Given the description of an element on the screen output the (x, y) to click on. 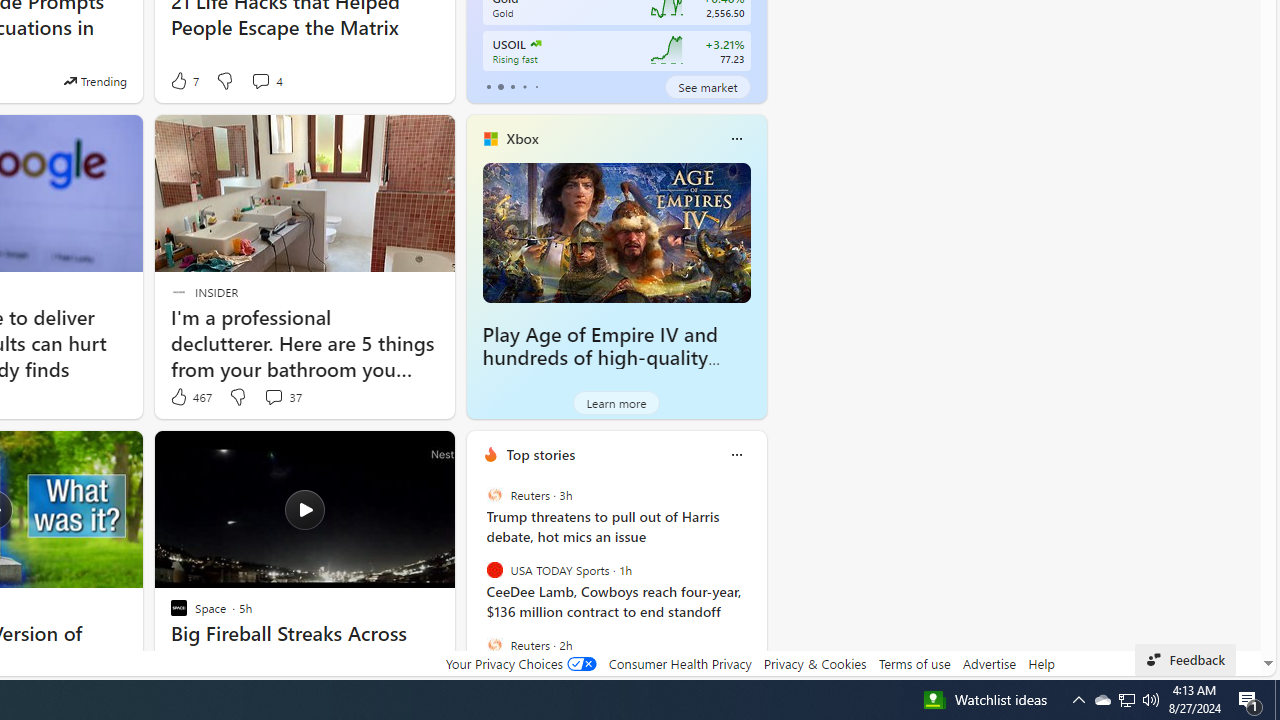
tab-1 (500, 86)
Reuters (494, 644)
This story is trending (95, 80)
7 Like (183, 80)
